Given the description of an element on the screen output the (x, y) to click on. 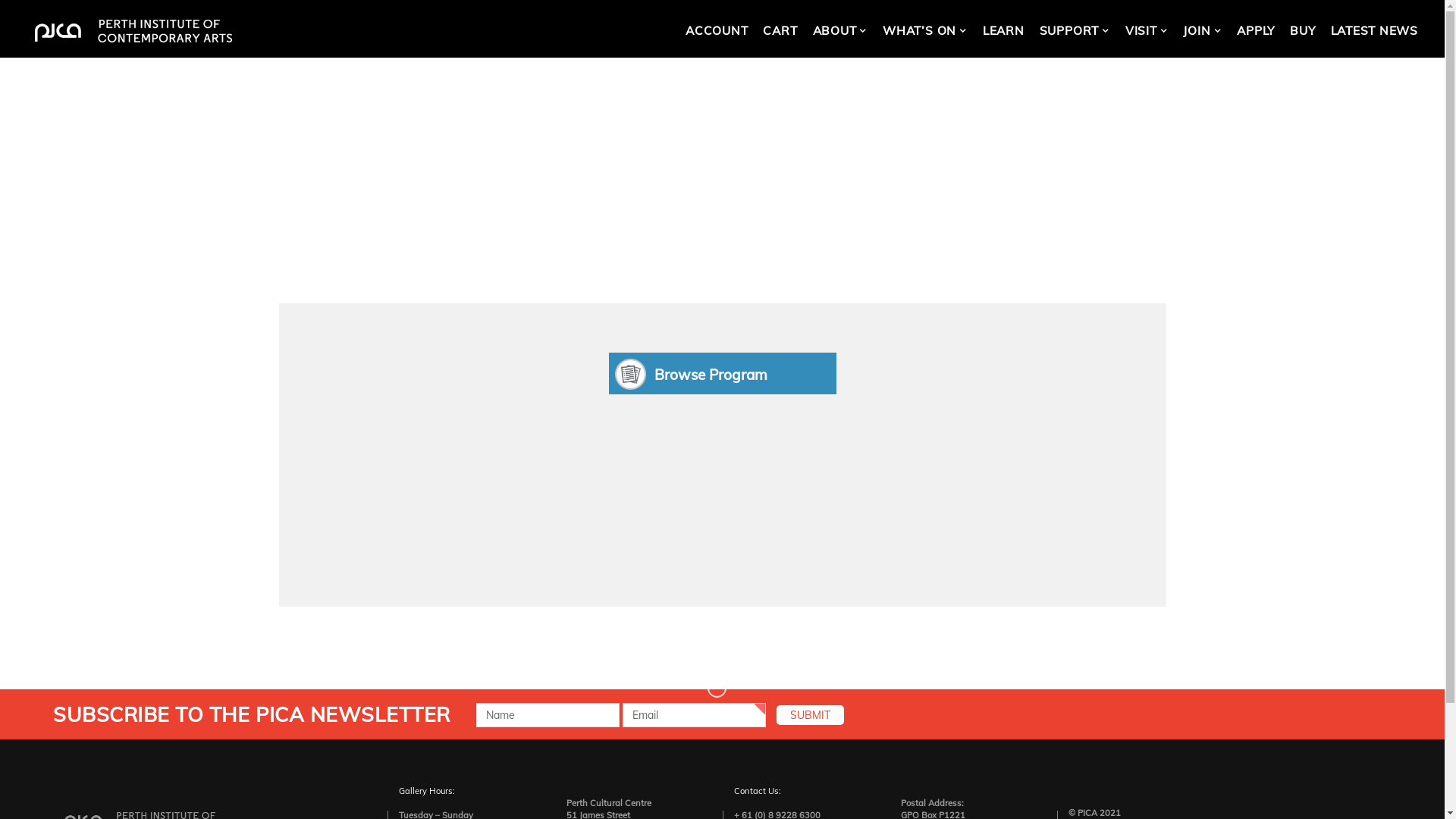
Browse Program Element type: text (721, 373)
APPLY Element type: text (1255, 31)
CART Element type: text (779, 31)
BUY Element type: text (1302, 31)
VISIT Element type: text (1146, 31)
SUPPORT Element type: text (1074, 31)
LATEST NEWS Element type: text (1374, 31)
JOIN Element type: text (1202, 31)
ACCOUNT Element type: text (716, 31)
LEARN Element type: text (1003, 31)
ABOUT Element type: text (840, 31)
Submit Element type: text (810, 714)
